Given the description of an element on the screen output the (x, y) to click on. 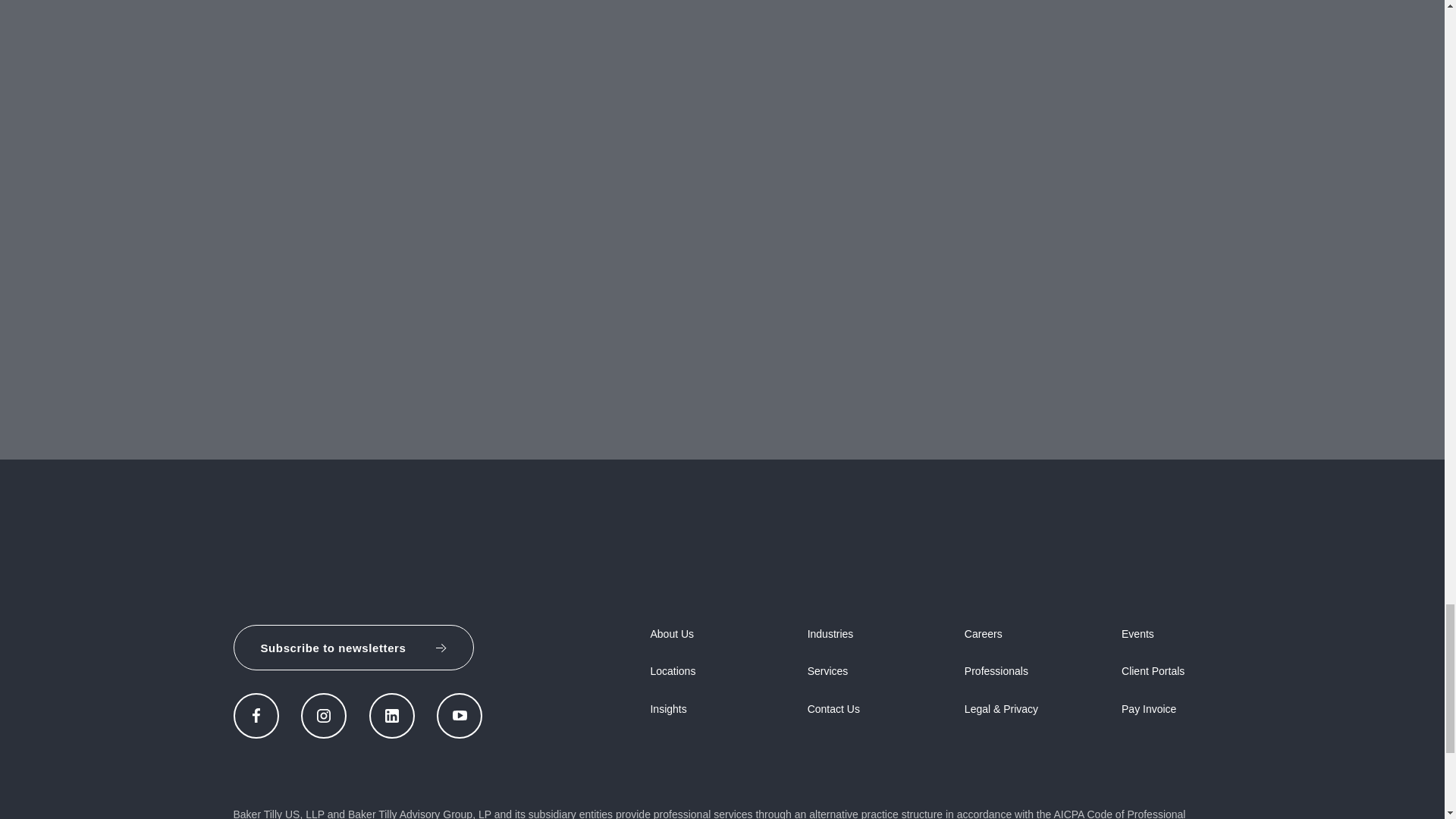
Subscribe to newsletters (353, 647)
Careers (983, 633)
About Us (671, 633)
Industries (830, 633)
Locations (672, 671)
Services (828, 671)
Events (1137, 633)
